Given the description of an element on the screen output the (x, y) to click on. 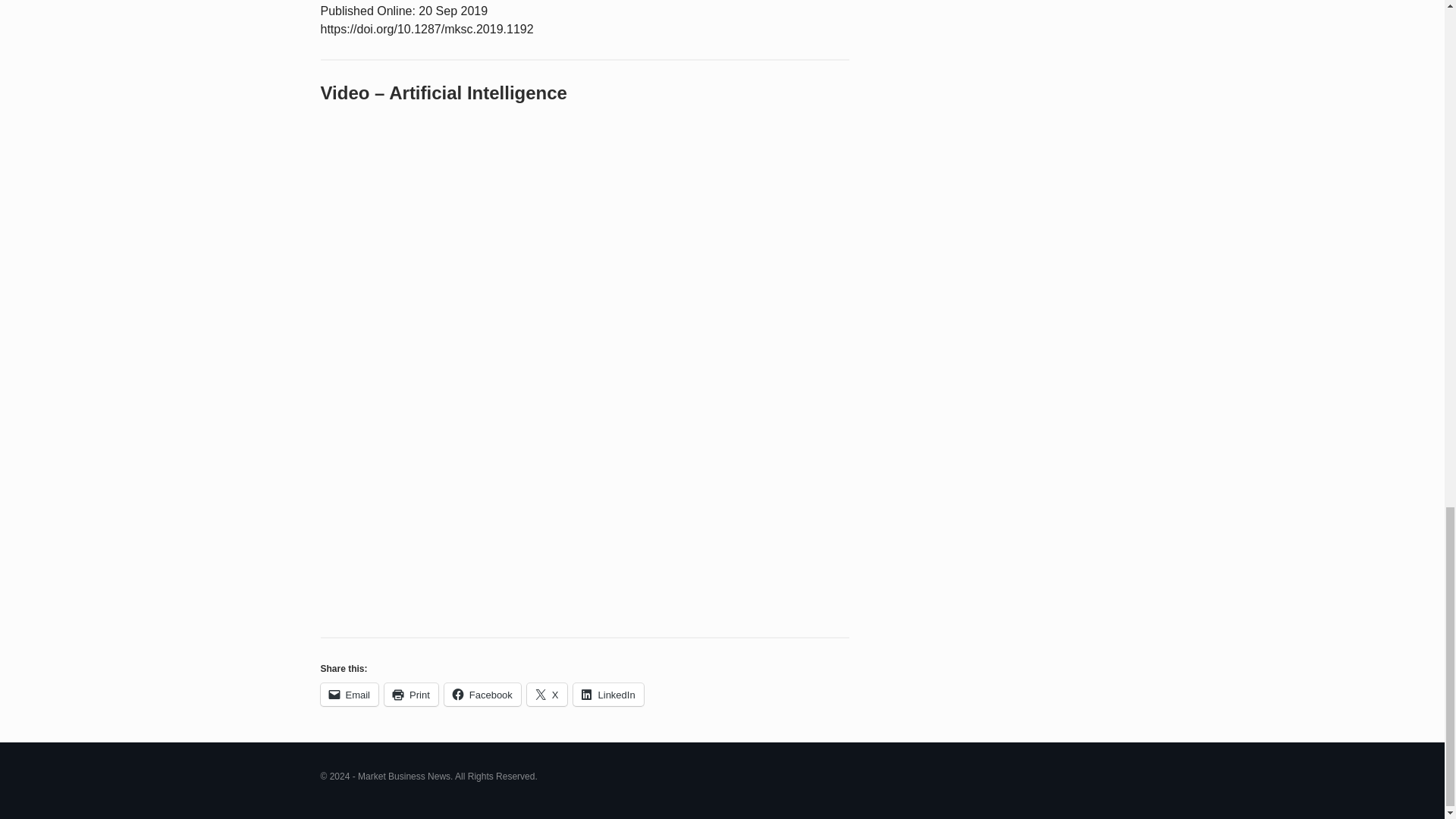
X (547, 694)
Click to share on LinkedIn (608, 694)
LinkedIn (608, 694)
Print (411, 694)
Click to print (411, 694)
Click to share on X (547, 694)
Email (349, 694)
Click to share on Facebook (482, 694)
Facebook (482, 694)
